Given the description of an element on the screen output the (x, y) to click on. 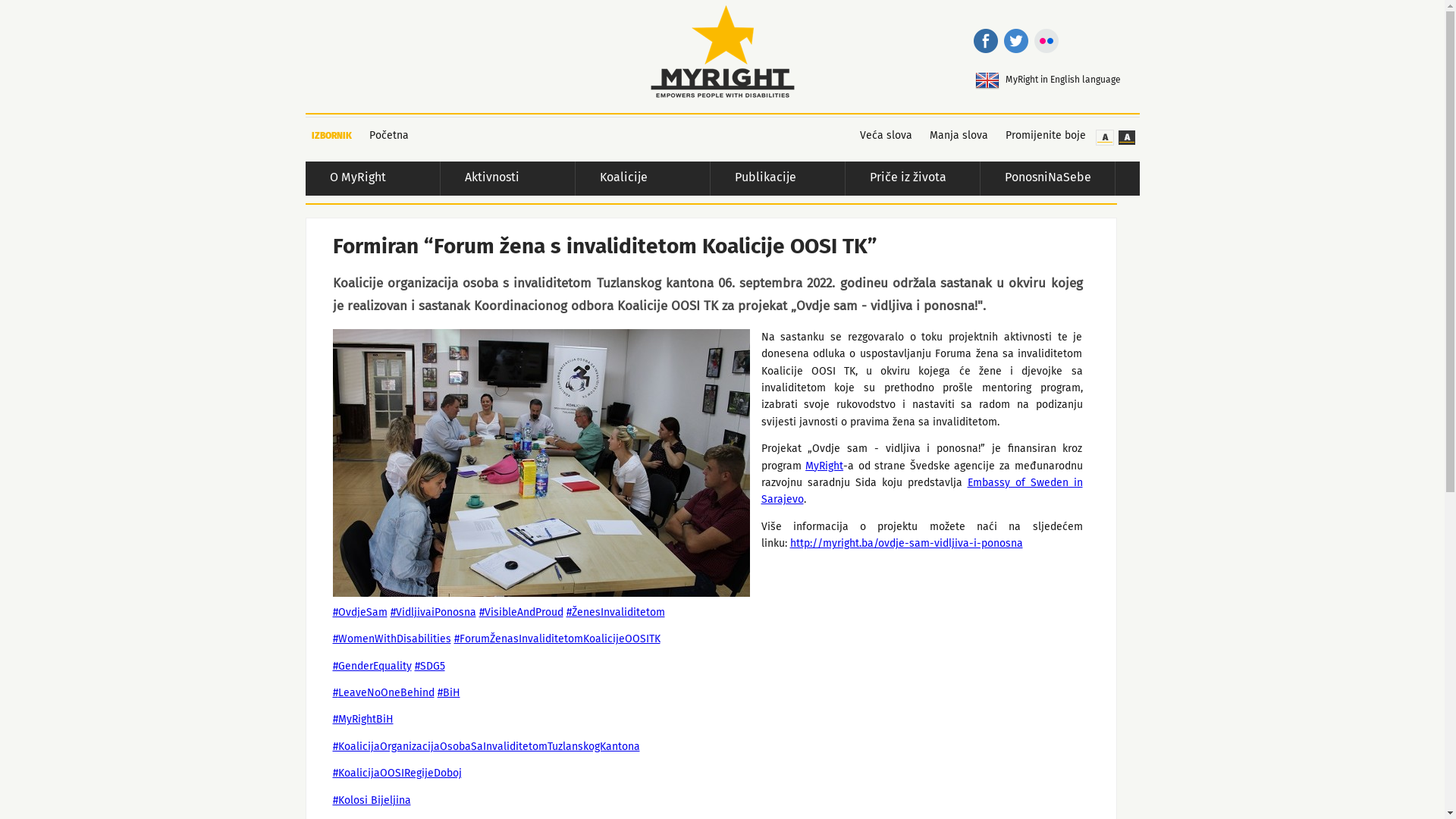
Otvorite podmeni linka O MyRight Element type: hover (401, 178)
#OvdjeSam Element type: text (359, 612)
#VidljivaiPonosna Element type: text (432, 612)
#WomenWithDisabilities Element type: text (391, 638)
#SDG5 Element type: text (429, 666)
MyRight in English language Element type: text (1072, 80)
http://myright.ba/ovdje-sam-vidljiva-i-ponosna Element type: text (906, 543)
#KoalicijaOOSIRegijeDoboj Element type: text (396, 773)
Otvorite podmeni linka Publikacije Element type: hover (806, 178)
Promijenite boje Element type: text (1039, 135)
O MyRight Element type: text (364, 178)
#KoalicijaOrganizacijaOsobaSaInvaliditetomTuzlanskogKantona Element type: text (485, 746)
#VisibleAndProud Element type: text (521, 612)
Manja slova Element type: text (953, 135)
Aktivnosti Element type: text (499, 178)
PonosniNaSebe Element type: text (1039, 178)
Otvorite podmeni linka Koalicije Element type: hover (671, 178)
Koalicije Element type: text (634, 178)
Publikacije Element type: text (769, 178)
Embassy of Sweden in Sarajevo Element type: text (921, 491)
MyRight Element type: text (824, 466)
IZBORNIK Element type: text (330, 136)
#MyRightBiH Element type: text (362, 719)
#BiH Element type: text (447, 692)
#GenderEquality Element type: text (371, 666)
Kraj glavnog izbornika Element type: hover (1115, 182)
Otvorite podmeni linka Aktivnosti Element type: hover (536, 178)
# Element type: text (334, 692)
LeaveNoOneBehind Element type: text (386, 692)
#Kolosi Bijeljina Element type: text (371, 800)
